Given the description of an element on the screen output the (x, y) to click on. 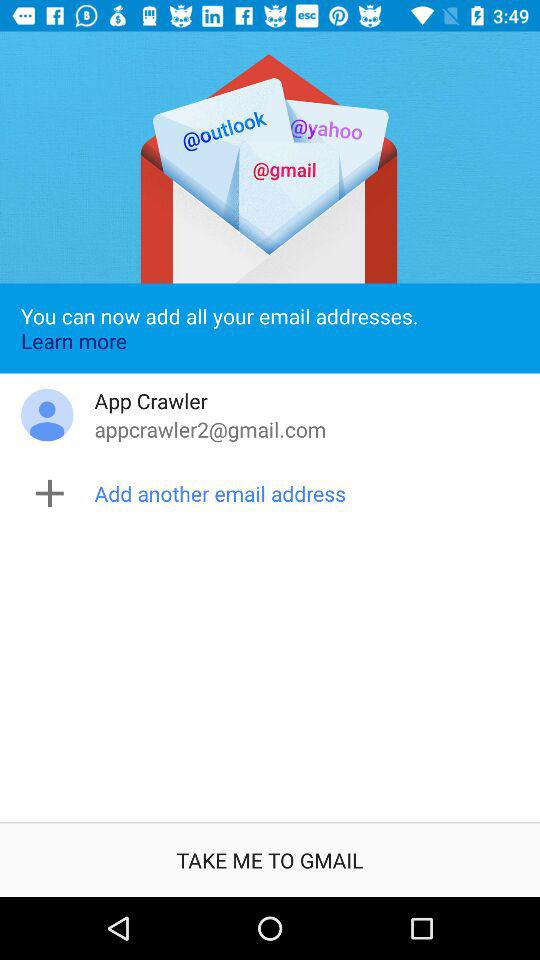
jump to take me to app (270, 859)
